Given the description of an element on the screen output the (x, y) to click on. 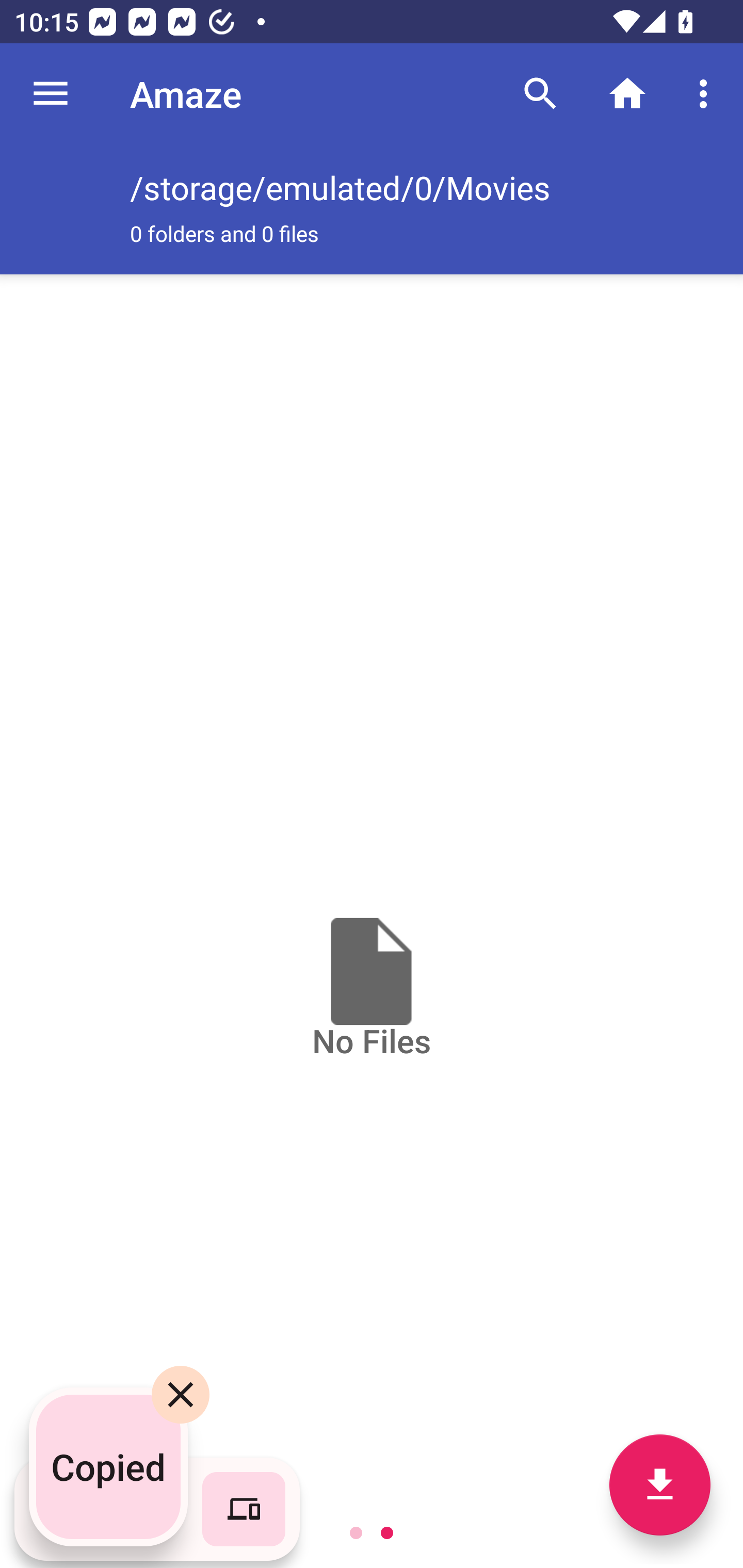
Navigate up (50, 93)
Search (540, 93)
Home (626, 93)
More options (706, 93)
